Given the description of an element on the screen output the (x, y) to click on. 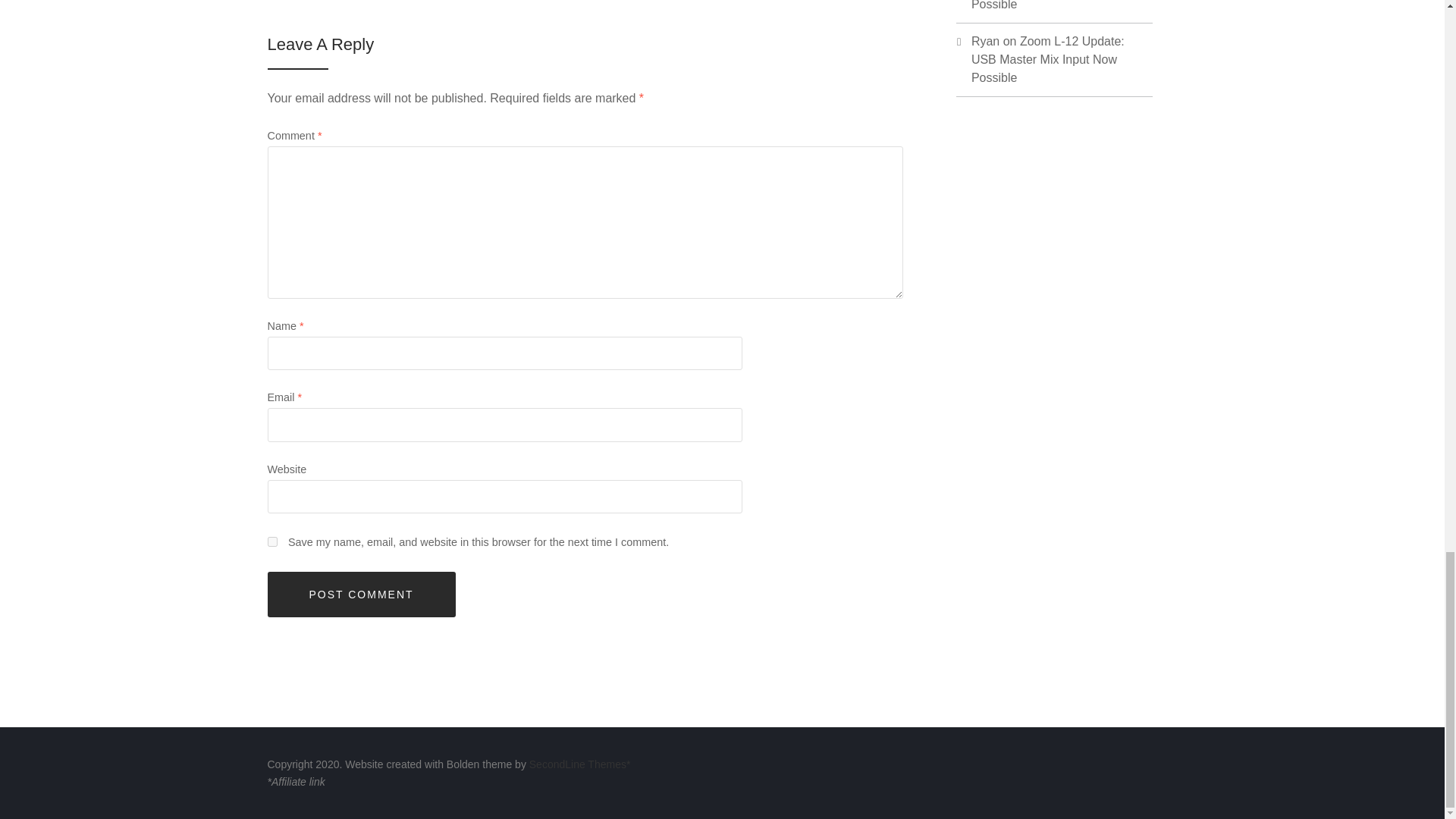
yes (271, 542)
Post Comment (360, 594)
